Given the description of an element on the screen output the (x, y) to click on. 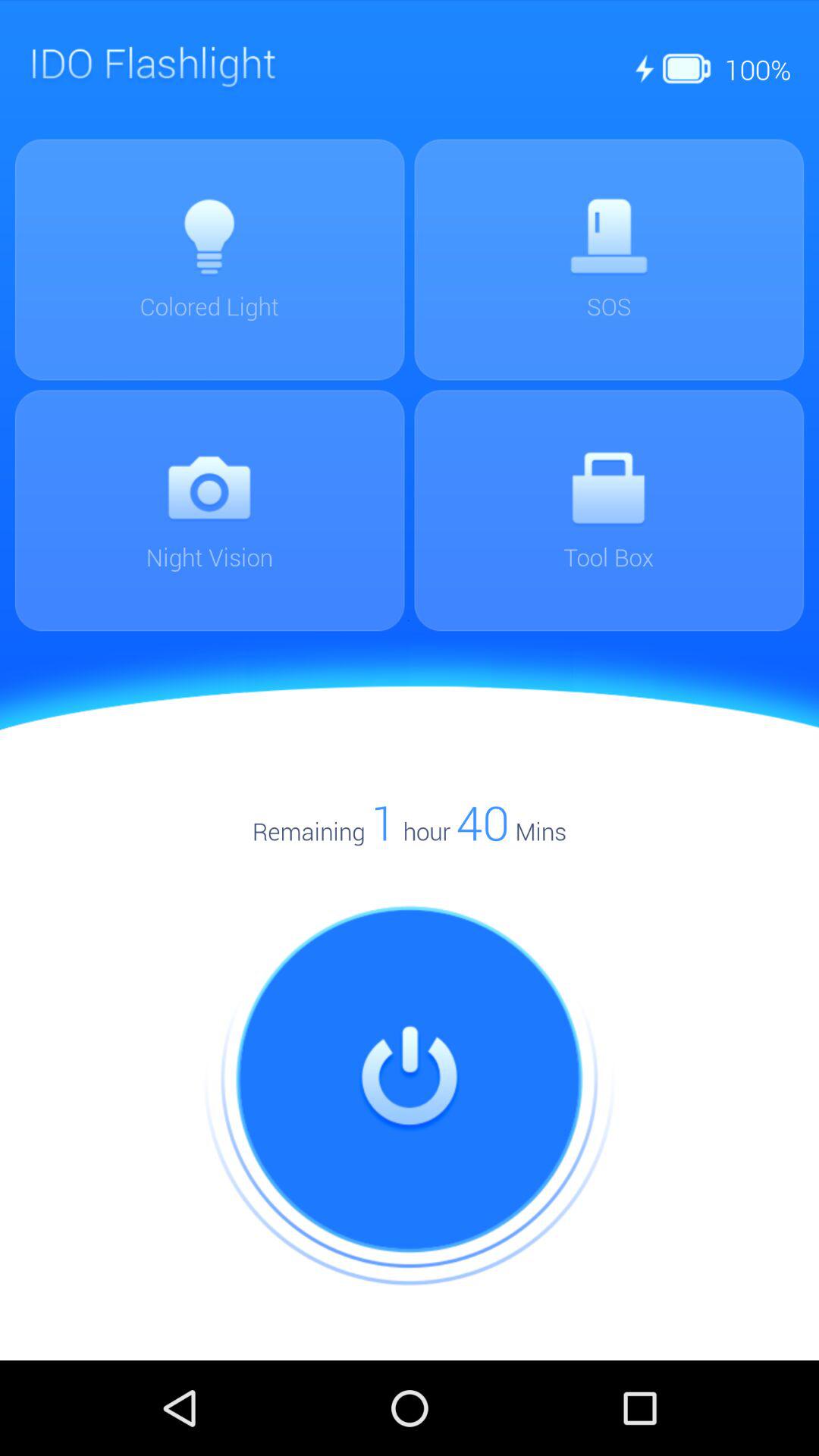
toggle power on/off (409, 1079)
